Given the description of an element on the screen output the (x, y) to click on. 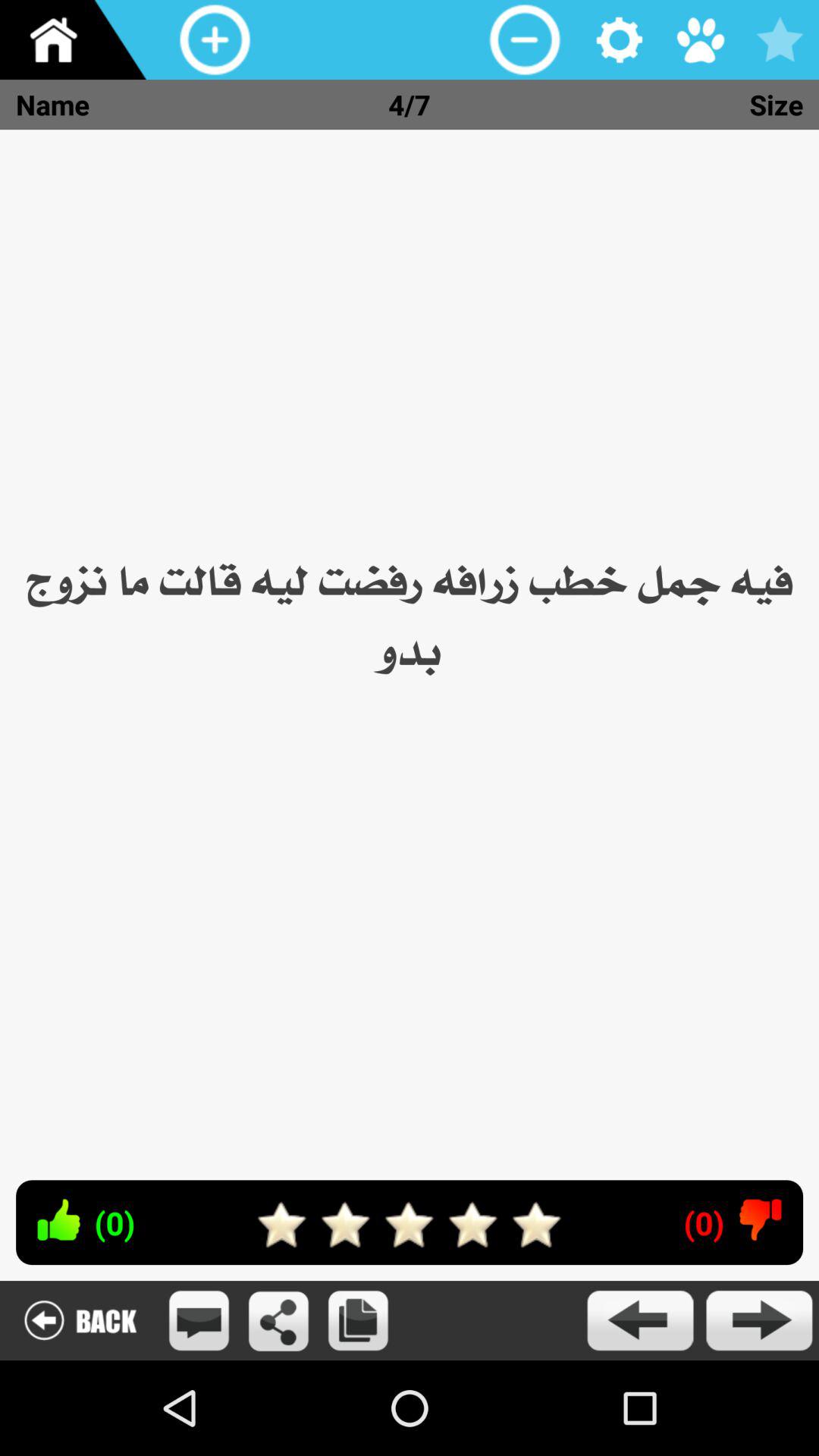
settings (619, 39)
